Given the description of an element on the screen output the (x, y) to click on. 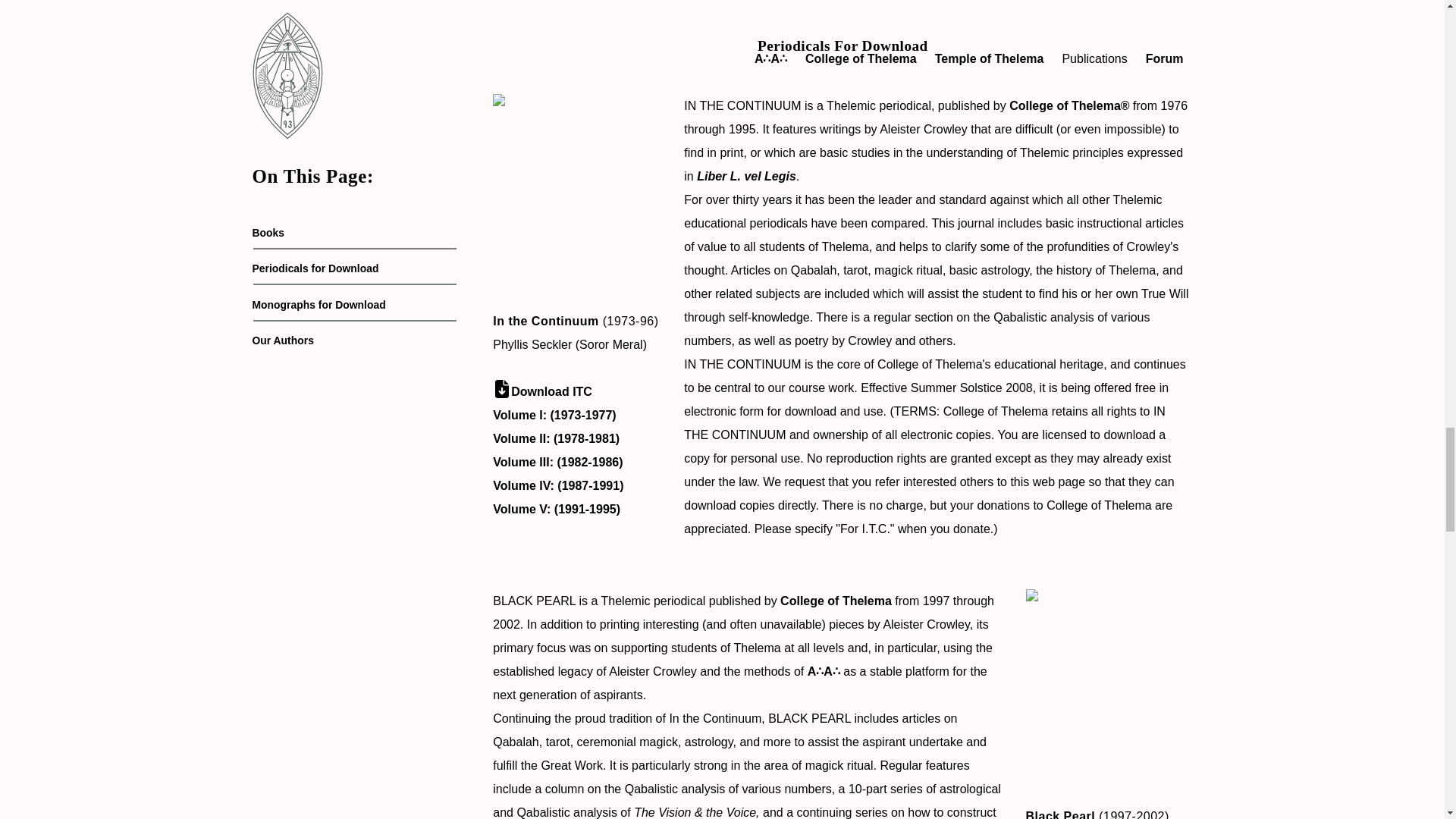
Download ITC Volume I (554, 414)
Download ITC Volume V (556, 508)
Liber L. vel Legis (746, 175)
Download ITC Volume IV (558, 485)
Download ITC Volume II (556, 438)
College of Thelema (835, 600)
Download ITC Volume III (558, 461)
